Given the description of an element on the screen output the (x, y) to click on. 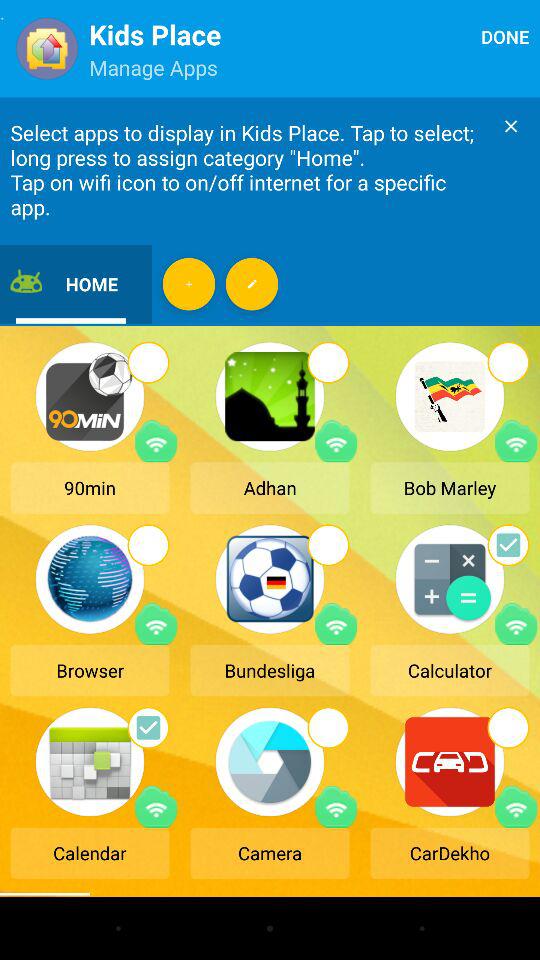
turn on/off internet (516, 441)
